Given the description of an element on the screen output the (x, y) to click on. 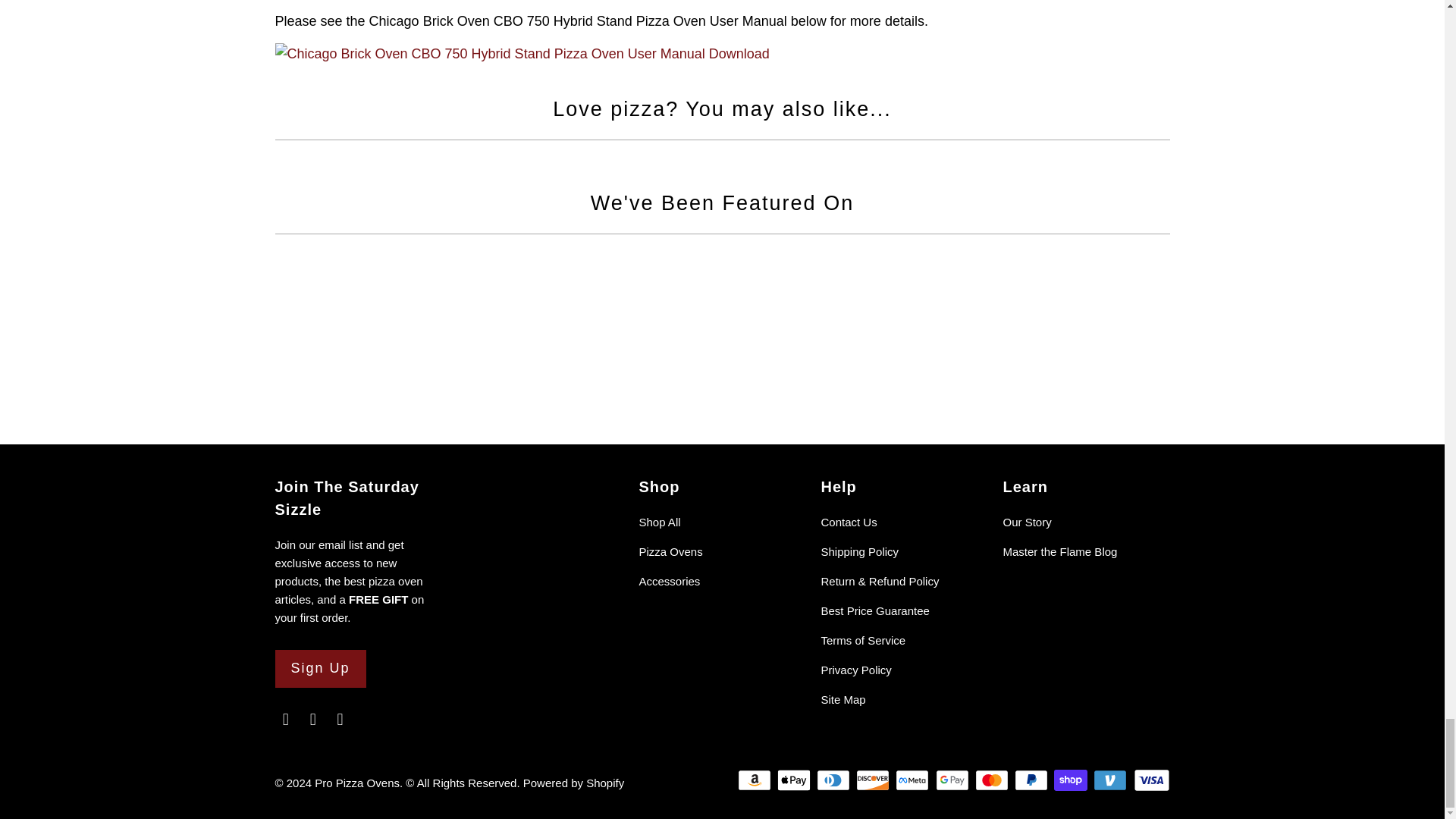
Diners Club (834, 780)
Apple Pay (795, 780)
Email Pro Pizza Ovens (286, 719)
Discover (874, 780)
Venmo (1111, 780)
Google Pay (954, 780)
Meta Pay (913, 780)
Shop Pay (1072, 780)
Pro Pizza Ovens on Instagram (340, 719)
